Given the description of an element on the screen output the (x, y) to click on. 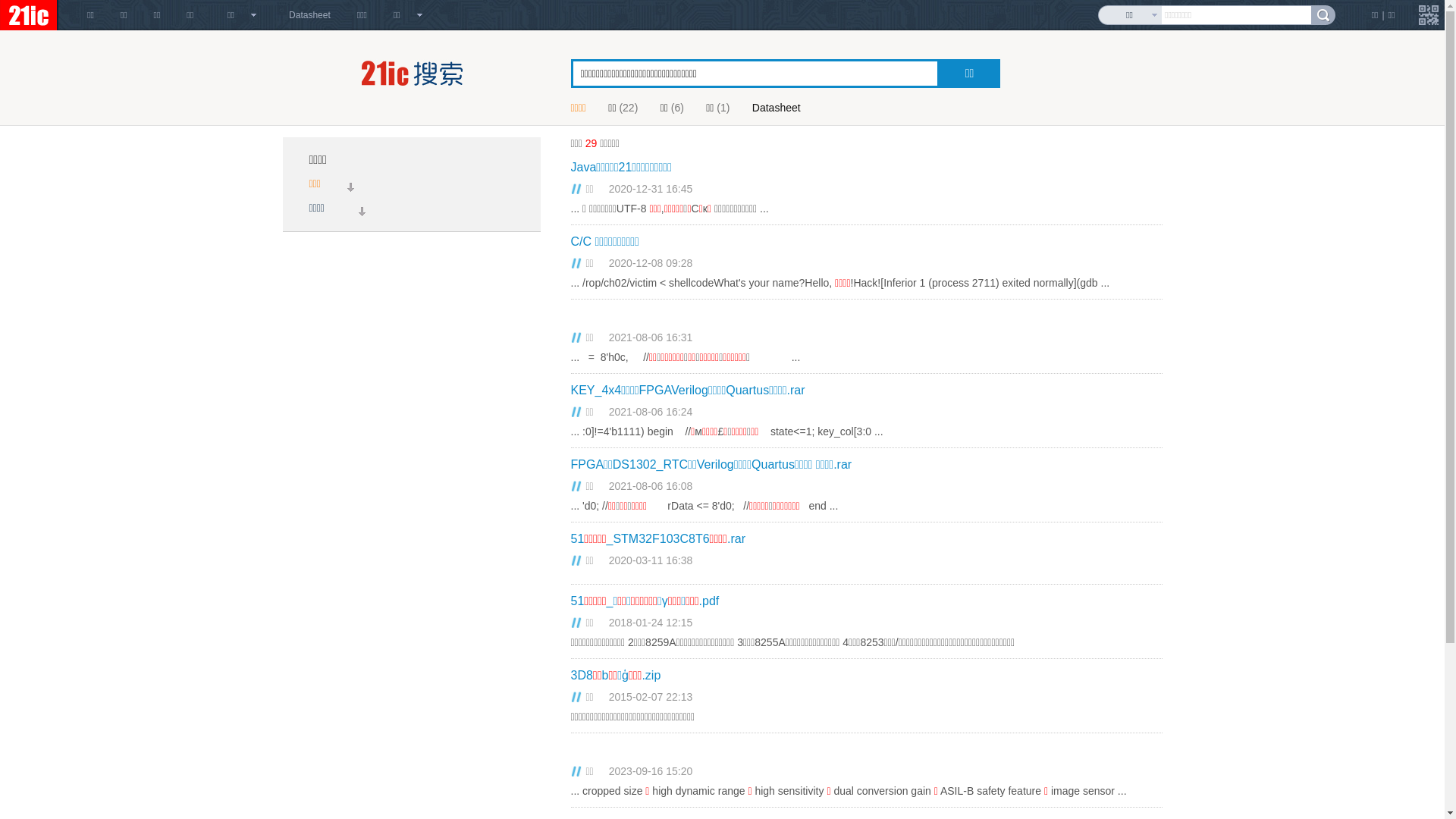
Datasheet Element type: text (309, 14)
Datasheet Element type: text (782, 107)
